Given the description of an element on the screen output the (x, y) to click on. 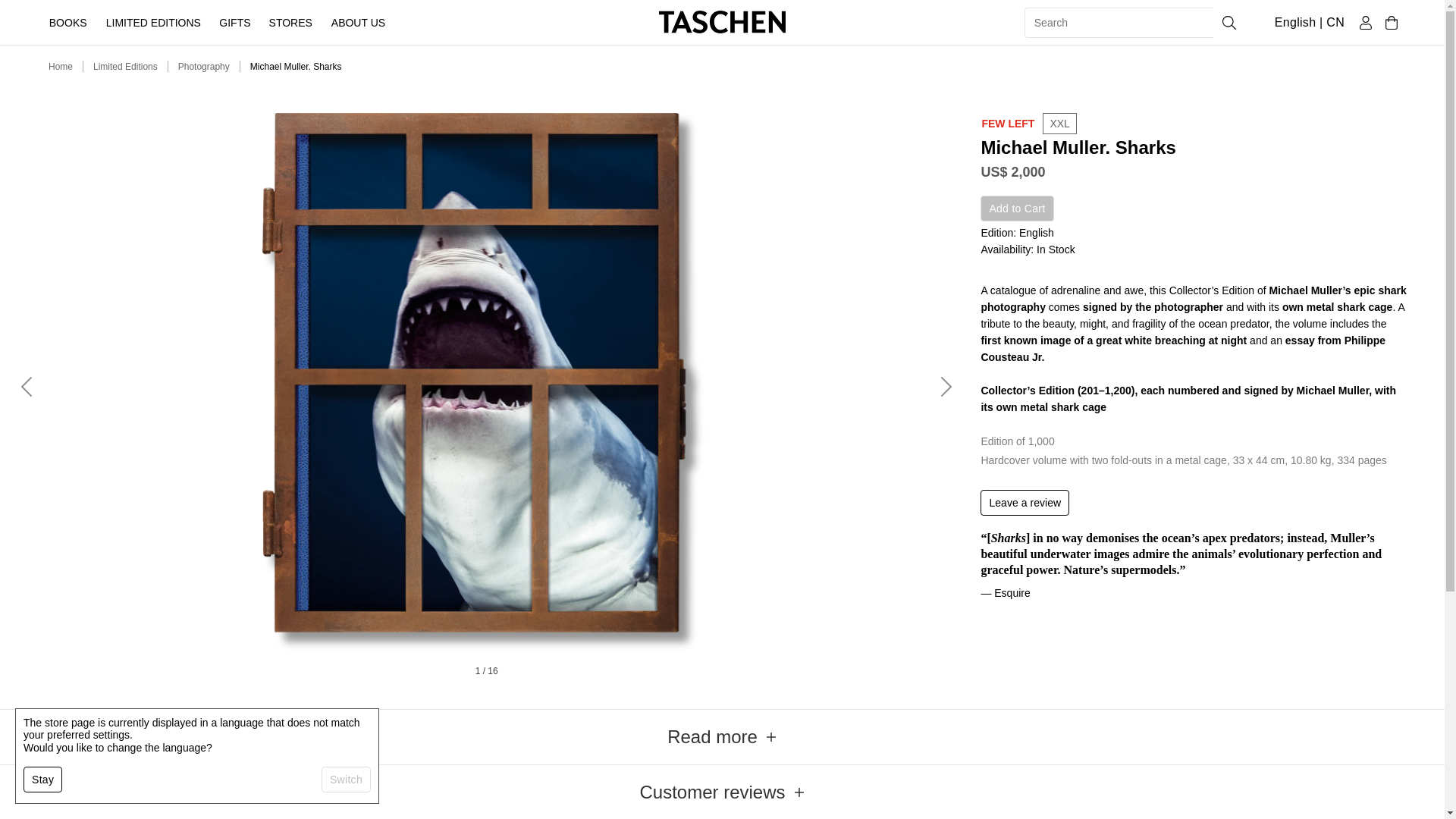
STORES (291, 22)
Photography (203, 66)
GIFTS (234, 22)
Please fill out this field. (1119, 22)
Home (60, 66)
Michael Muller. Sharks (296, 66)
LIMITED EDITIONS (152, 22)
Michael Muller. Sharks (296, 66)
Limited Editions (125, 66)
Limited Editions (125, 66)
